Given the description of an element on the screen output the (x, y) to click on. 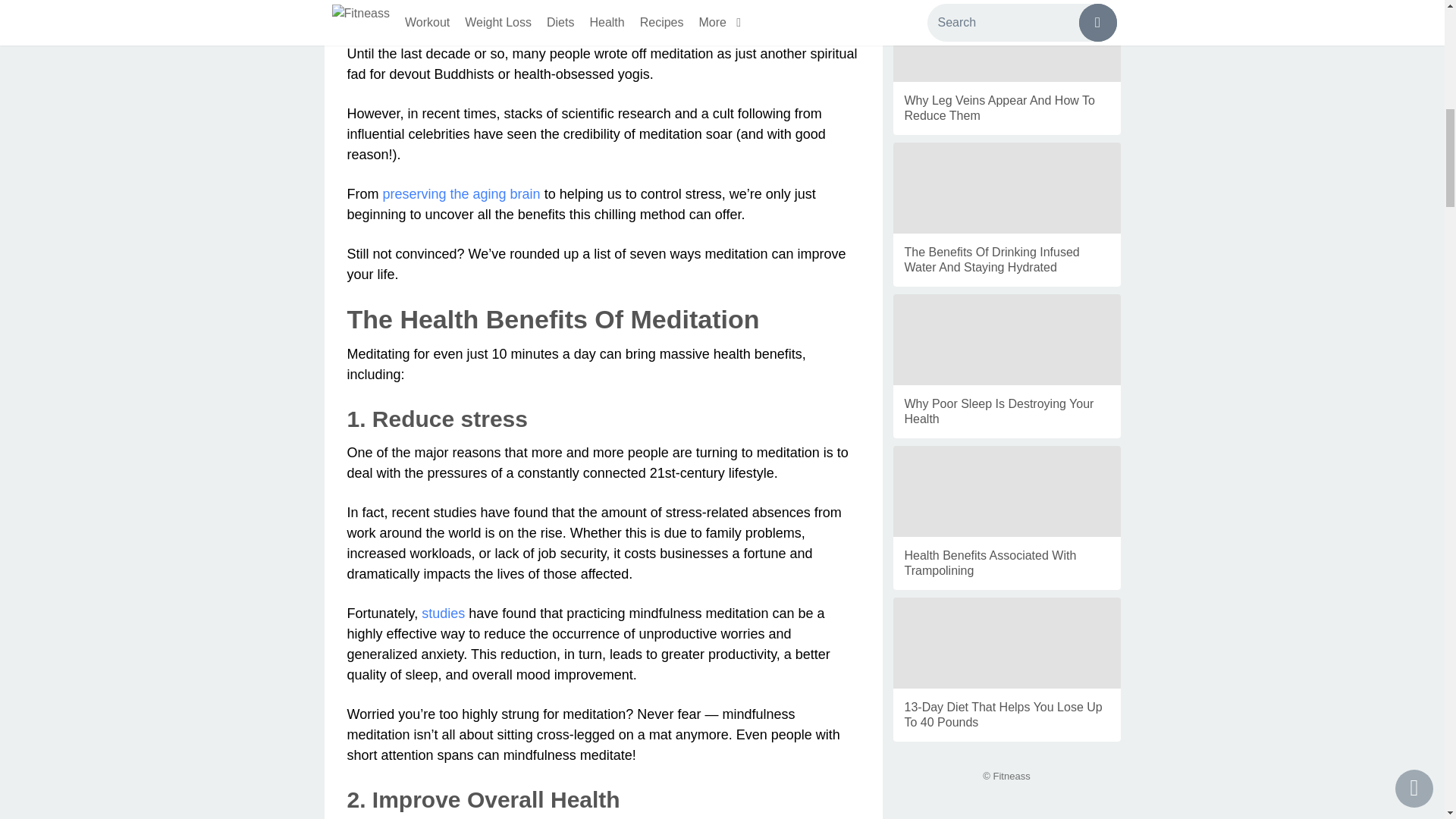
preserving the aging brain (460, 193)
studies (443, 613)
